Given the description of an element on the screen output the (x, y) to click on. 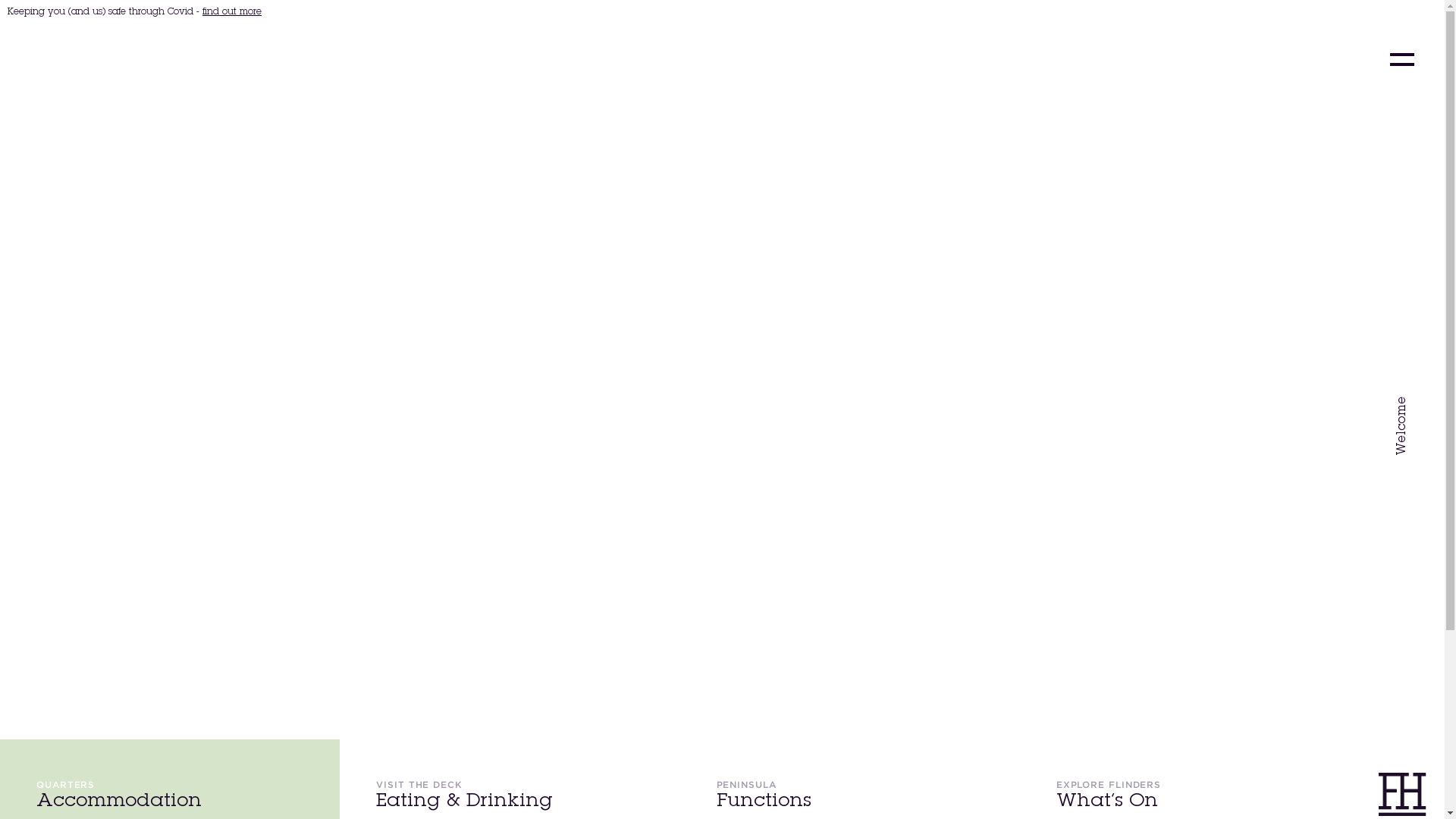
SEE MORE Element type: text (78, 631)
Flinders Hotel Element type: text (132, 58)
find out more Element type: text (231, 11)
